Given the description of an element on the screen output the (x, y) to click on. 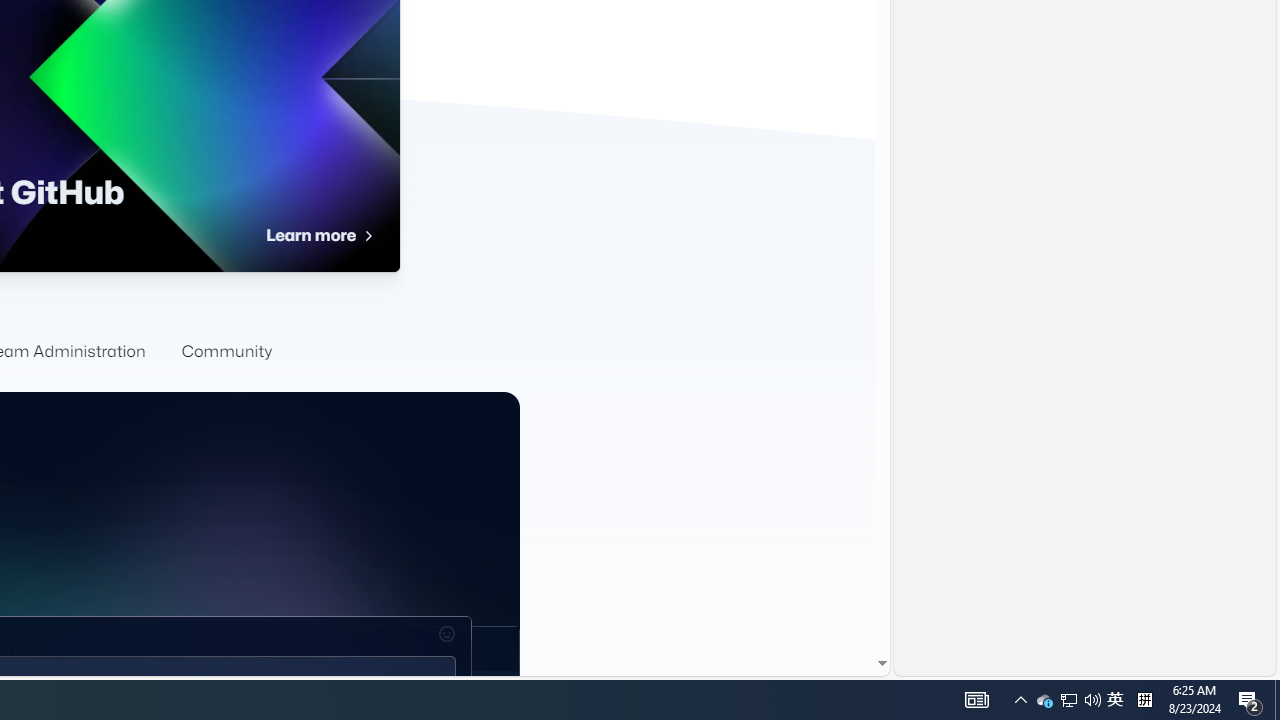
Class: octicon arrow-symbol-mktg octicon (367, 236)
Community (226, 351)
